Given the description of an element on the screen output the (x, y) to click on. 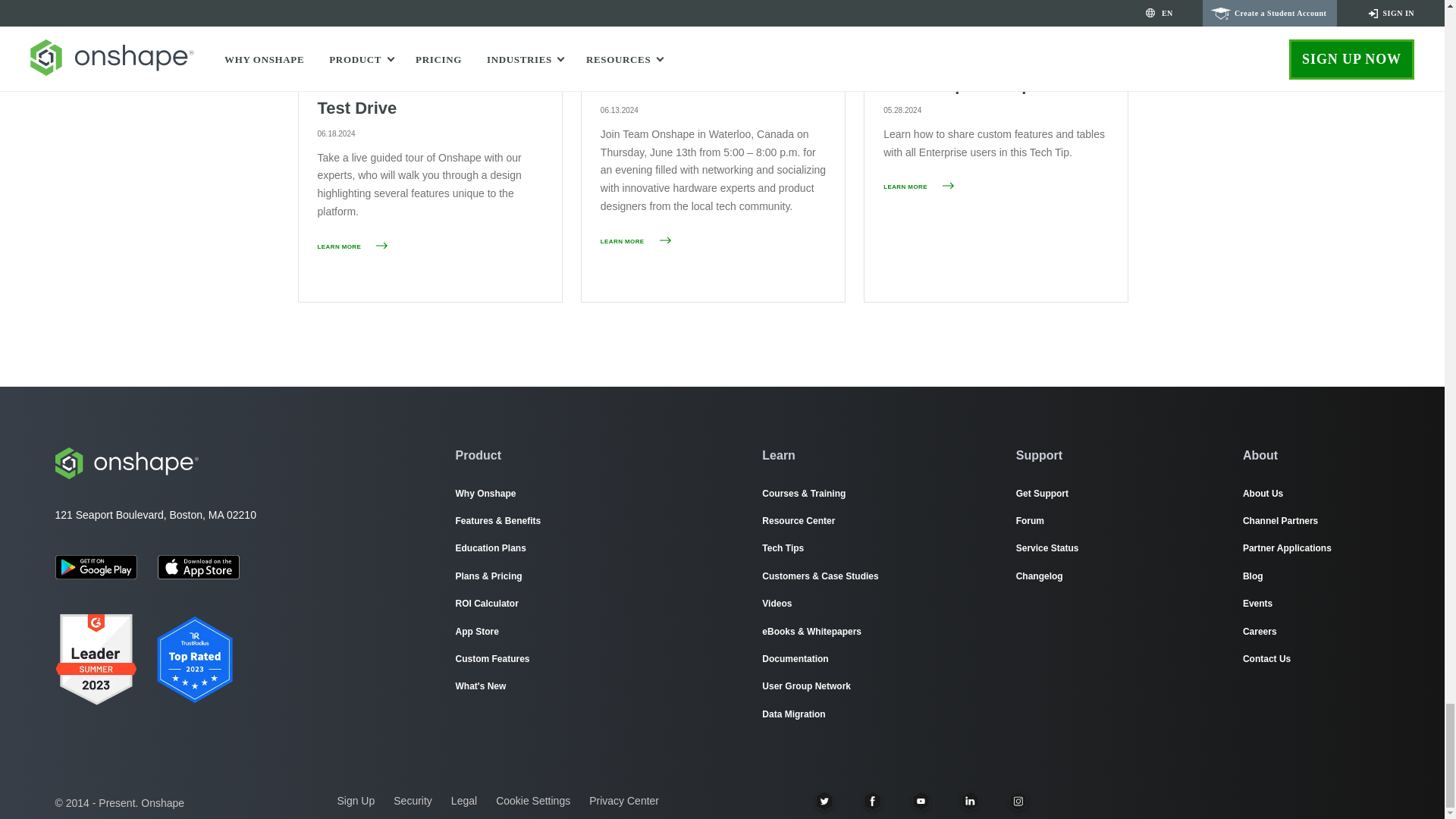
Follow us on Facebook (872, 801)
Subscribe to our YouTube channel (921, 801)
Follow us on Instagram (1018, 801)
Follow us on Twitter (823, 801)
Follow us on LinkedIn (969, 801)
